Given the description of an element on the screen output the (x, y) to click on. 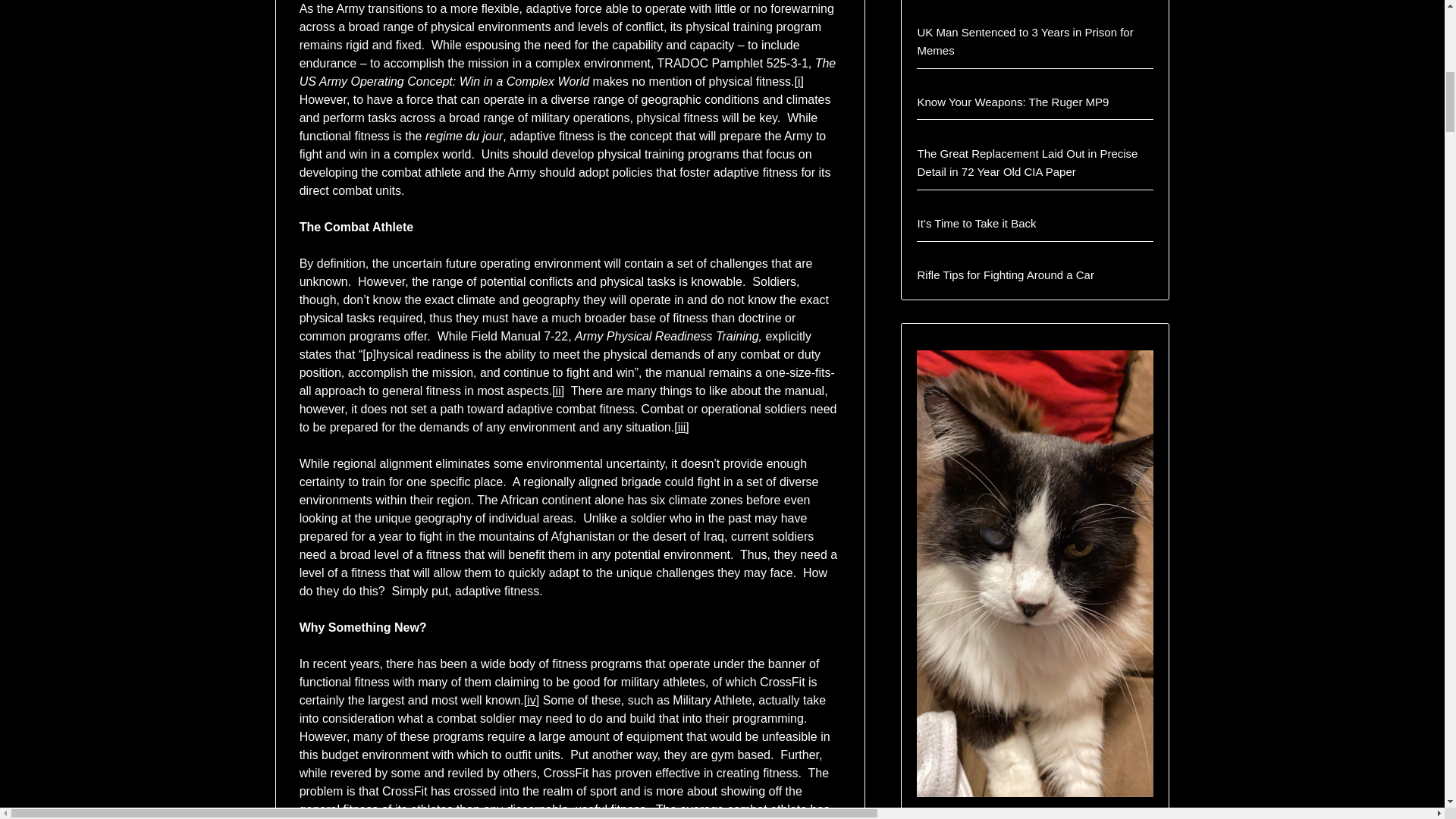
UK Man Sentenced to 3 Years in Prison for Memes (1024, 40)
Rifle Tips for Fighting Around a Car (1005, 274)
Know Your Weapons: The Ruger MP9 (1012, 101)
